Given the description of an element on the screen output the (x, y) to click on. 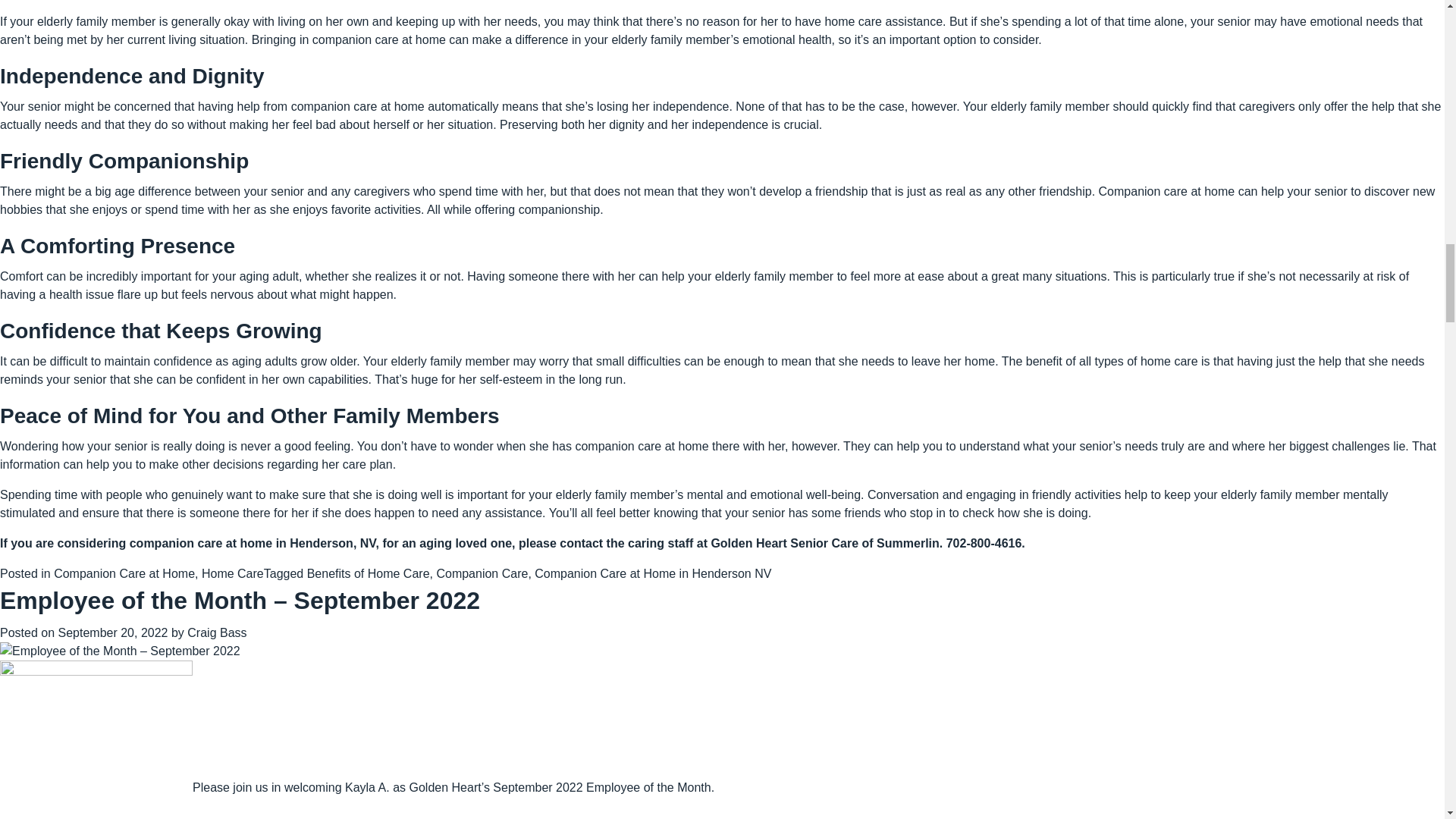
companion care at home in Henderson, NV (252, 543)
companion care at home (641, 445)
Companion care at home (1166, 191)
702-800-4616 (984, 543)
companion care at home (379, 39)
